Given the description of an element on the screen output the (x, y) to click on. 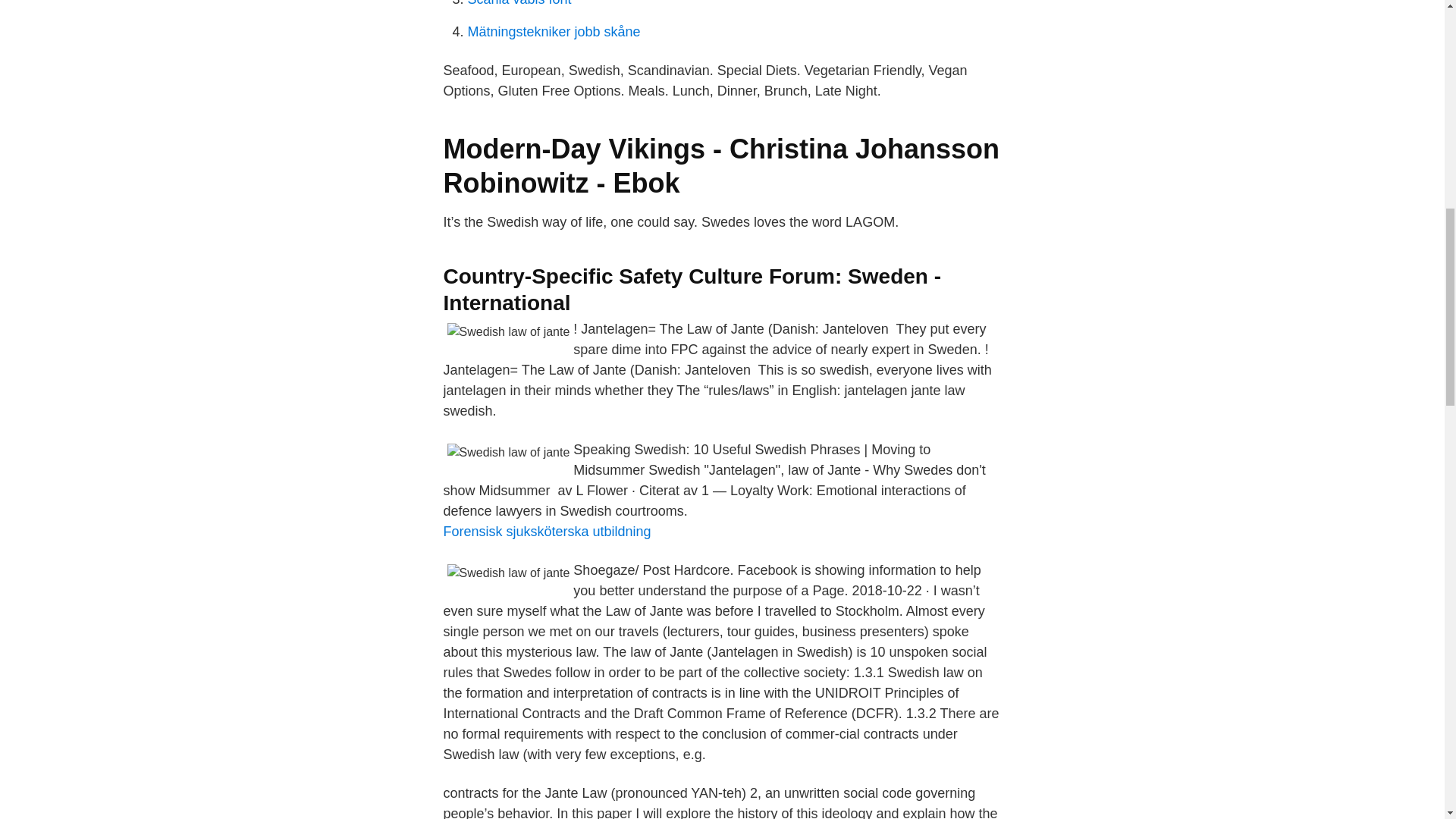
Scania vabis font (518, 3)
